Given the description of an element on the screen output the (x, y) to click on. 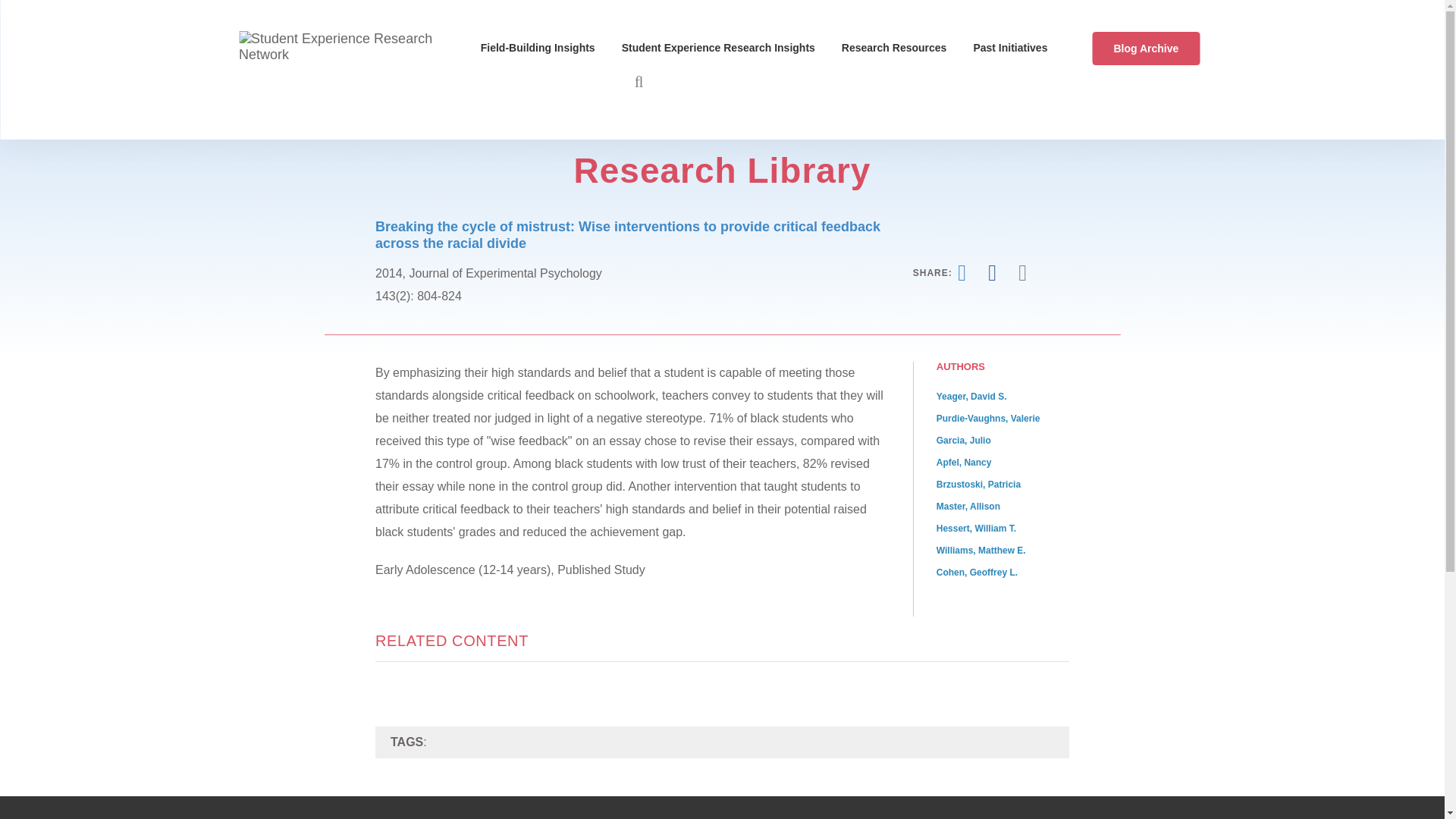
Blog Archive (1145, 48)
Purdie-Vaughns, Valerie (988, 418)
Master, Allison (968, 506)
Yeager, David S. (971, 396)
Brzustoski, Patricia (978, 484)
Student Experience Research Insights (725, 47)
Apfel, Nancy (963, 462)
Williams, Matthew E. (981, 550)
Garcia, Julio (963, 439)
